Given the description of an element on the screen output the (x, y) to click on. 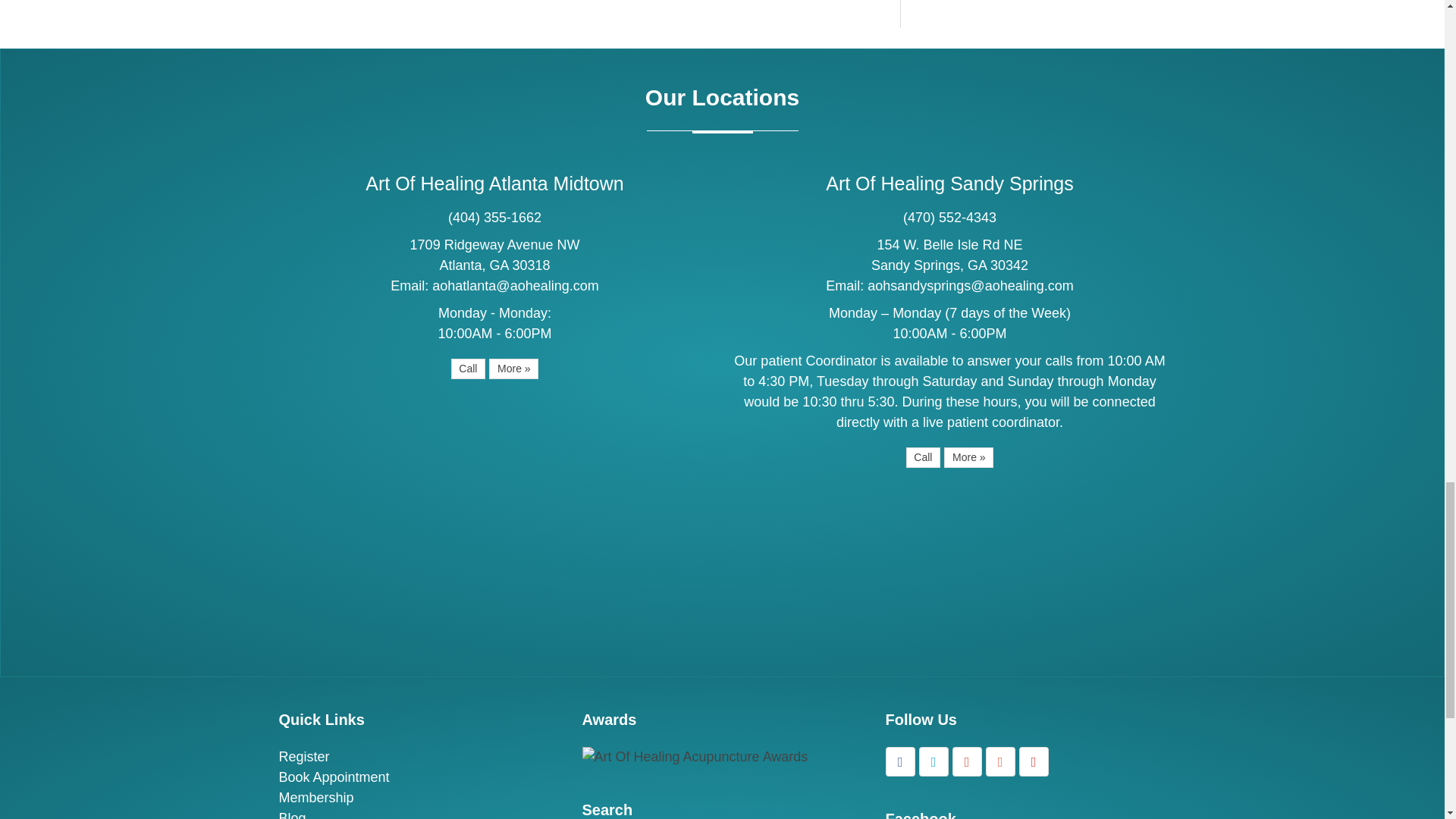
facebook (900, 761)
